Given the description of an element on the screen output the (x, y) to click on. 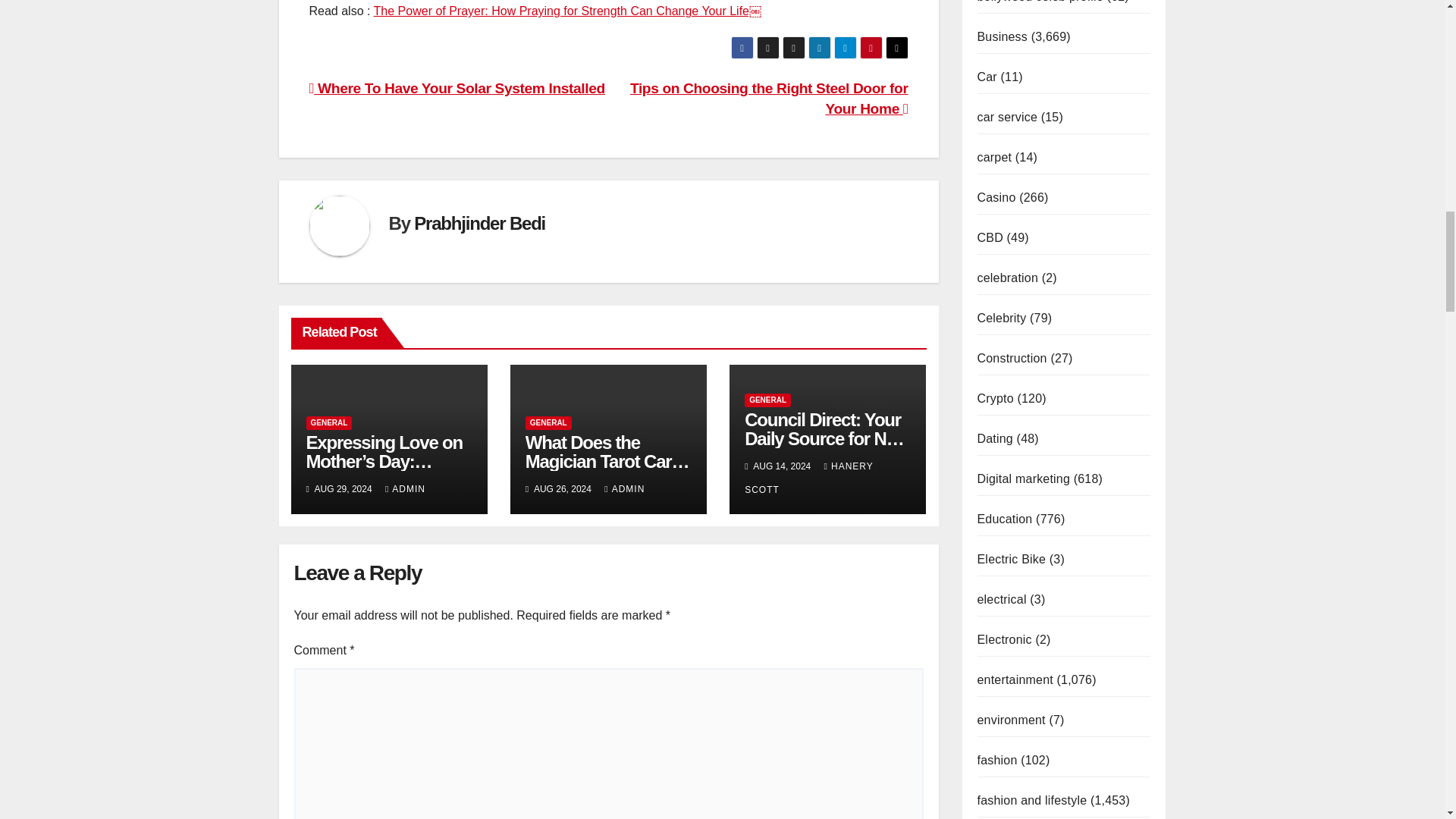
GENERAL (548, 422)
Where To Have Your Solar System Installed (456, 88)
ADMIN (405, 489)
Prabhjinder Bedi (478, 222)
Tips on Choosing the Right Steel Door for Your Home (769, 98)
GENERAL (328, 422)
